Given the description of an element on the screen output the (x, y) to click on. 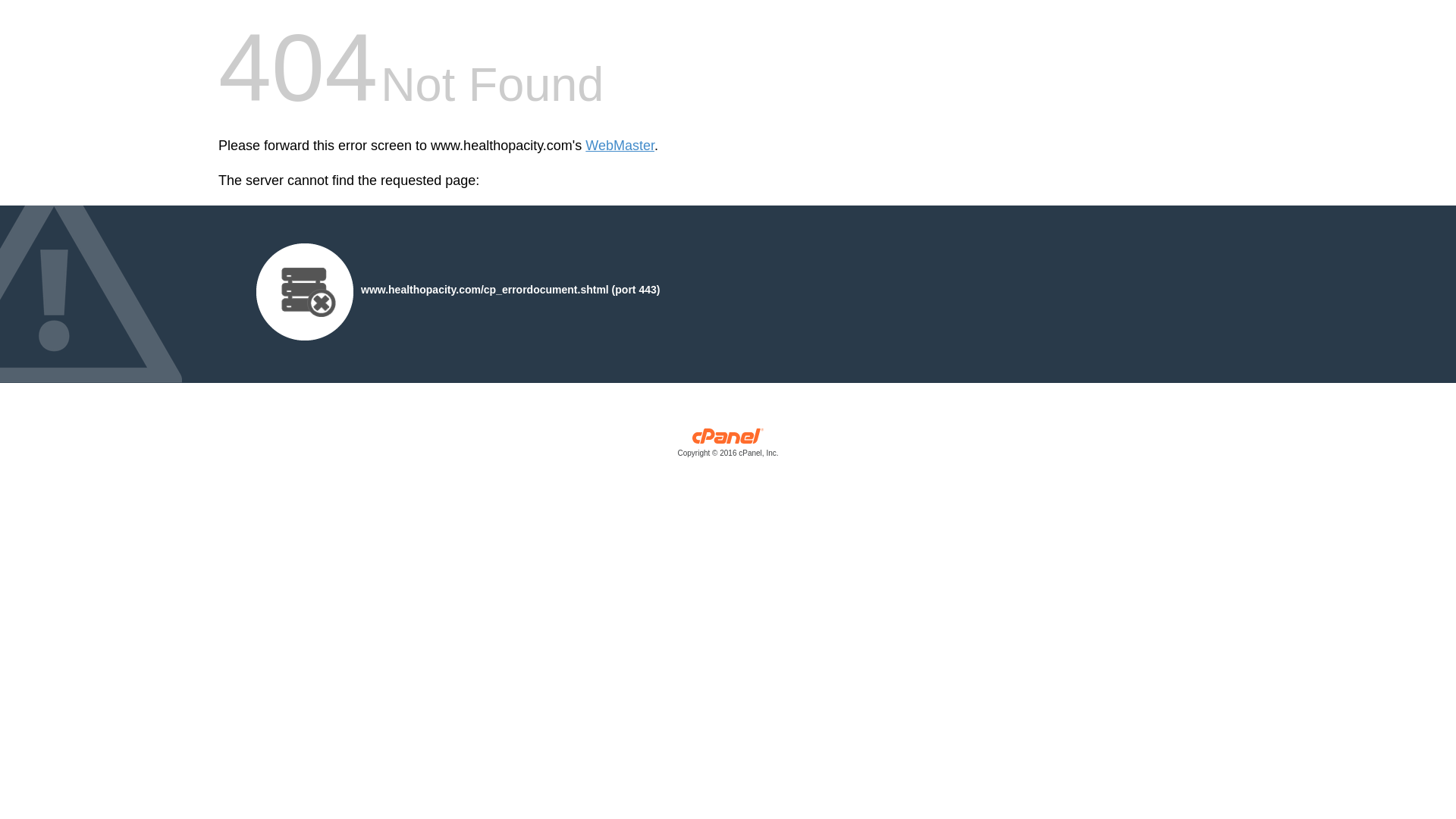
WebMaster (619, 145)
cPanel, Inc. (727, 446)
